Given the description of an element on the screen output the (x, y) to click on. 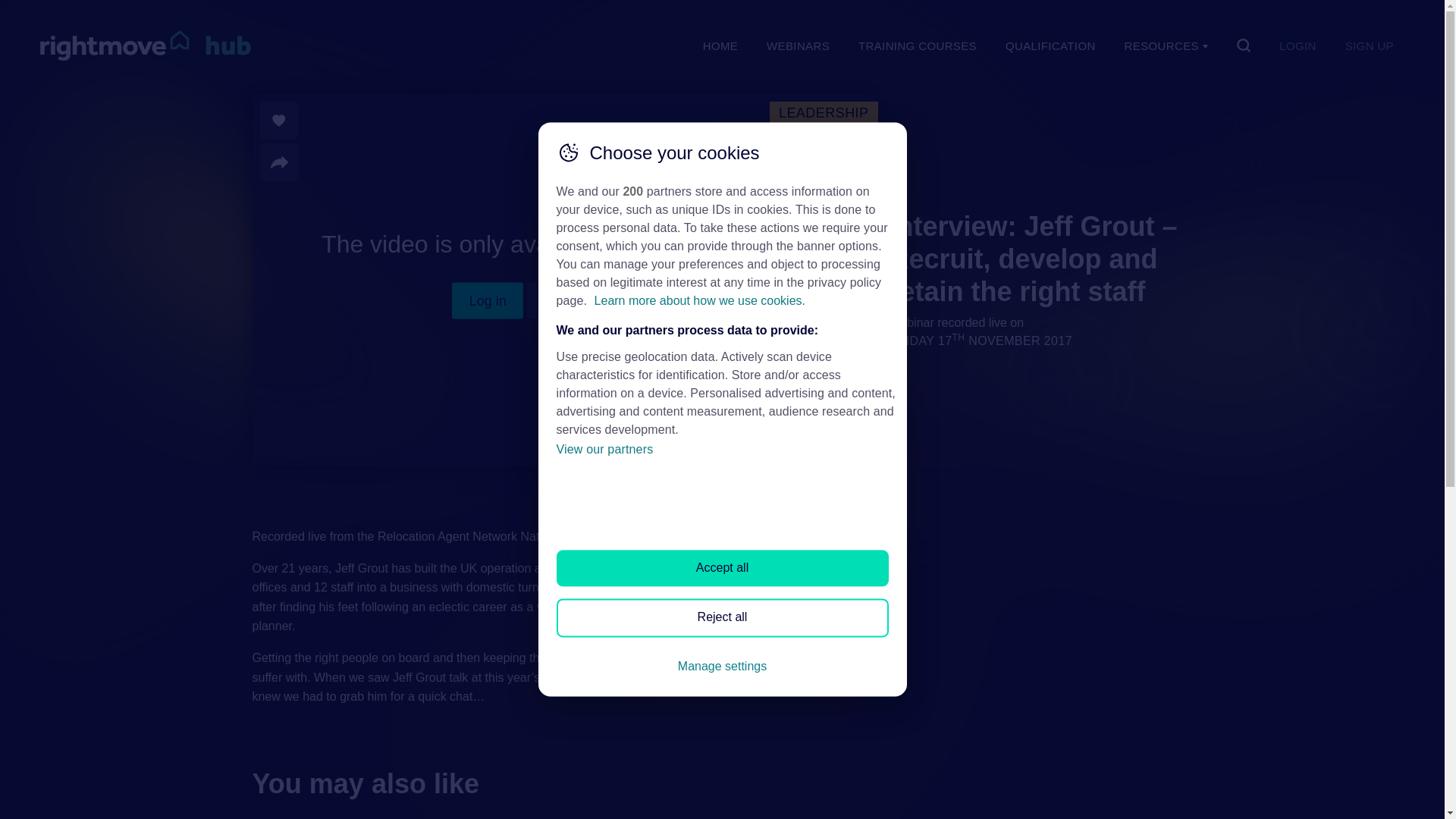
TRAINING COURSES (917, 45)
SEARCH (1243, 45)
QUALIFICATION (1050, 45)
HOME (720, 45)
WEBINARS (798, 45)
Sign up to the Hub (600, 300)
Log in (486, 300)
LOGIN (1297, 45)
RESOURCES (1166, 45)
SIGN UP (1369, 45)
